Given the description of an element on the screen output the (x, y) to click on. 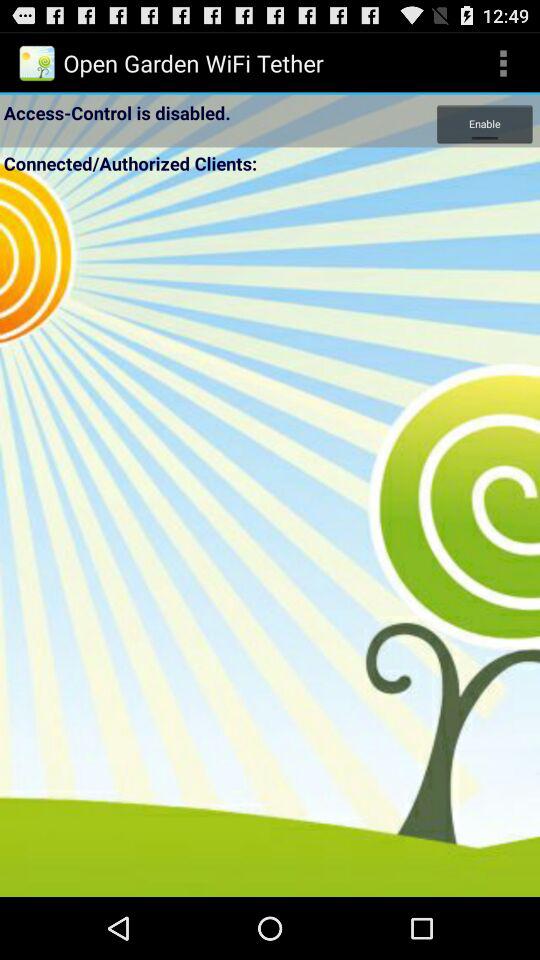
wifi tether (270, 537)
